Given the description of an element on the screen output the (x, y) to click on. 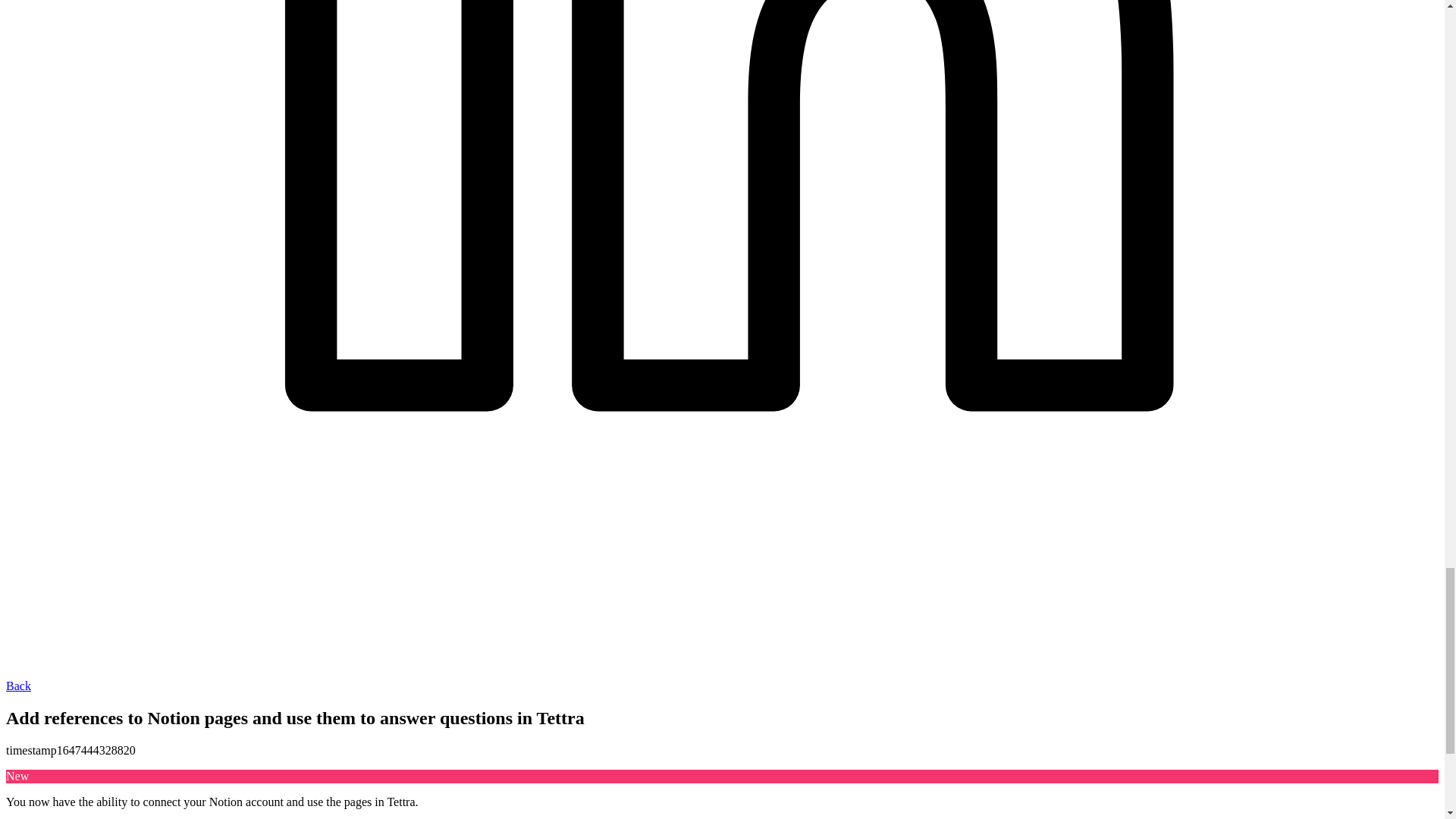
Back (17, 685)
Back (17, 685)
